Given the description of an element on the screen output the (x, y) to click on. 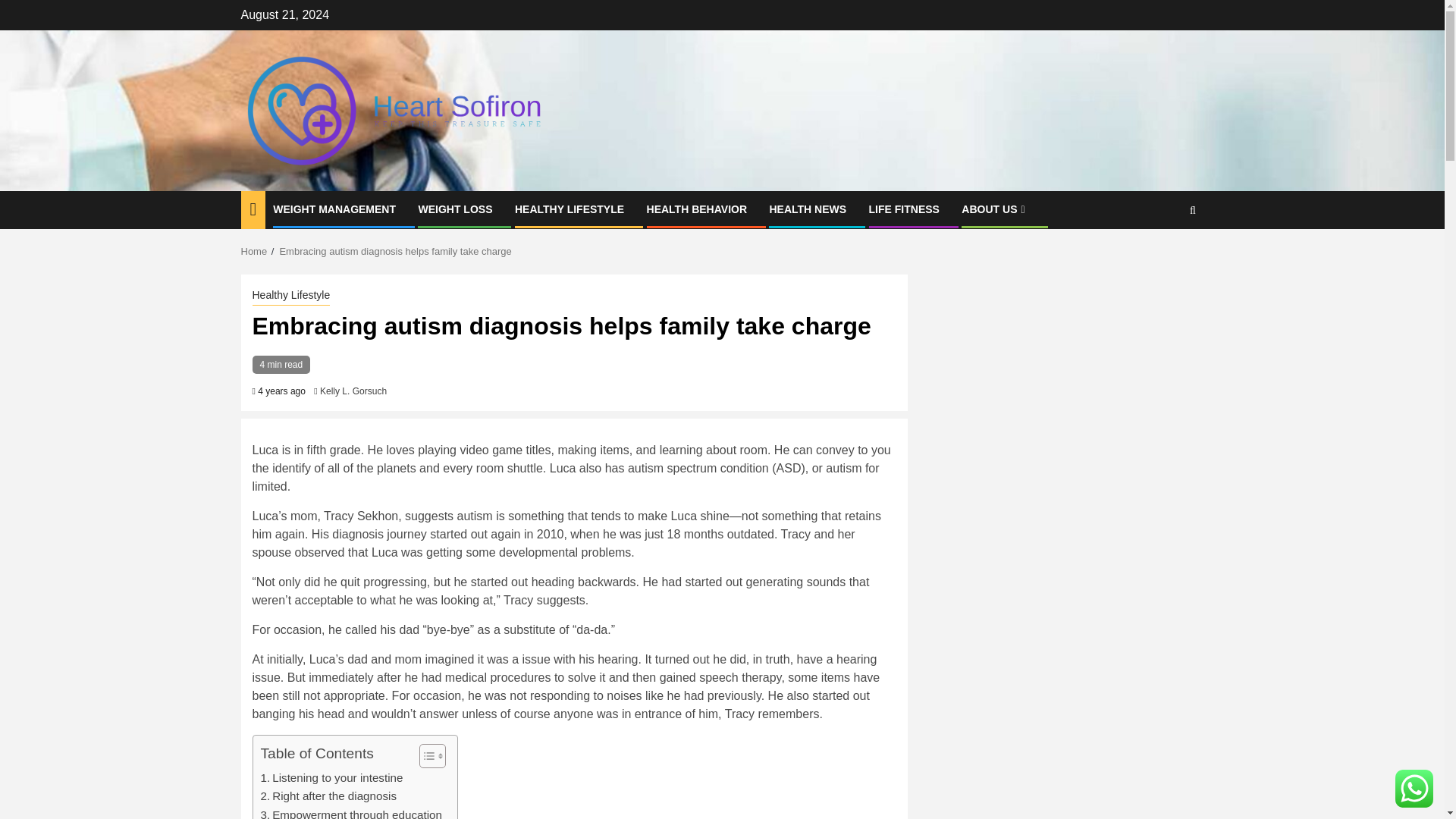
WEIGHT LOSS (454, 209)
Listening to your intestine (331, 778)
Kelly L. Gorsuch (353, 390)
Empowerment through education (351, 812)
Embracing autism diagnosis helps family take charge (395, 251)
Search (1163, 256)
HEALTH NEWS (806, 209)
Right after the diagnosis (328, 796)
Empowerment through education (351, 812)
Healthy Lifestyle (290, 296)
